Given the description of an element on the screen output the (x, y) to click on. 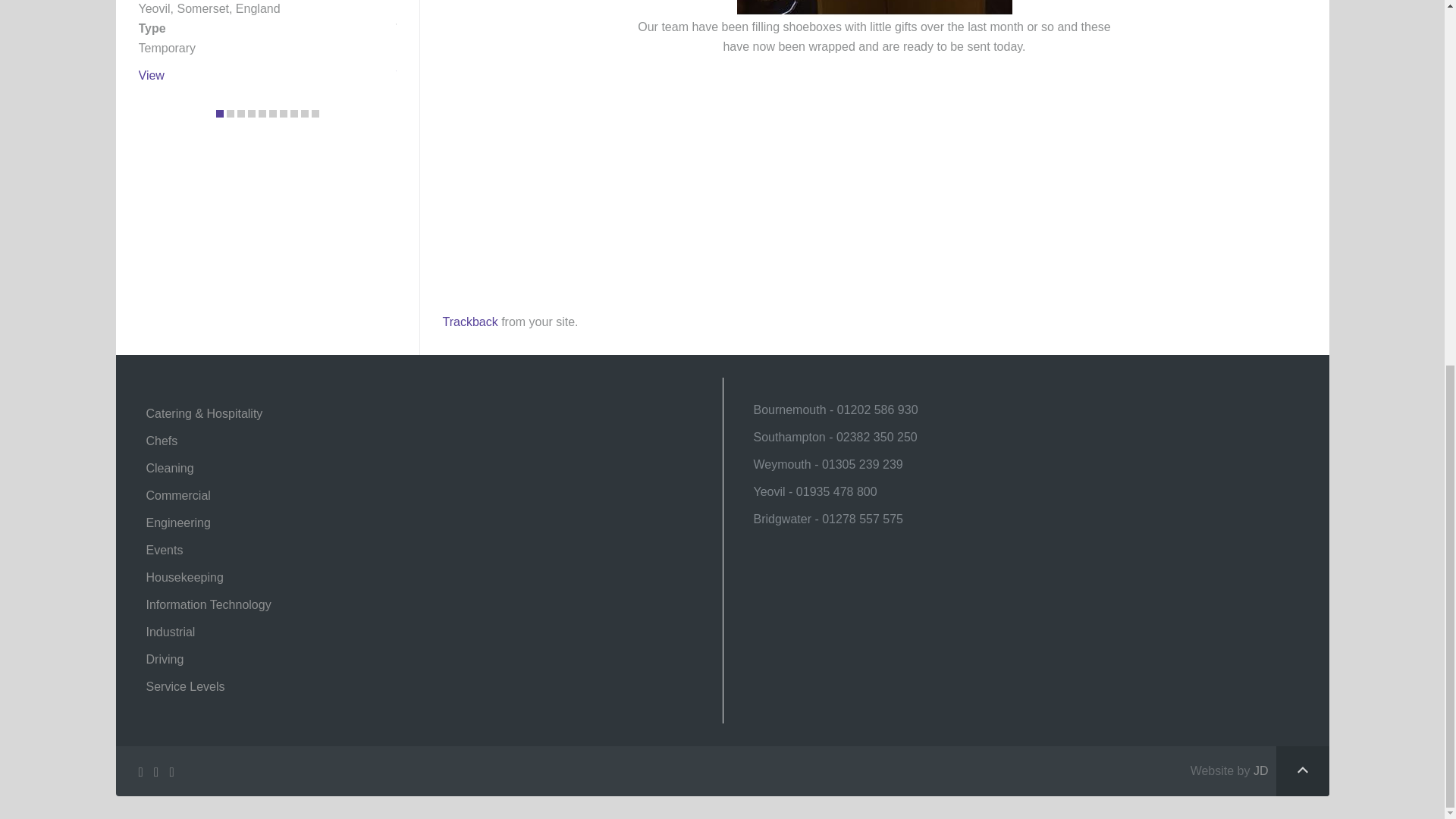
OCC 2017 Campaign Film - Shoebox Joy in Zimbabwe (632, 170)
Trackback (469, 321)
Night Parcel Sorter (150, 74)
